Given the description of an element on the screen output the (x, y) to click on. 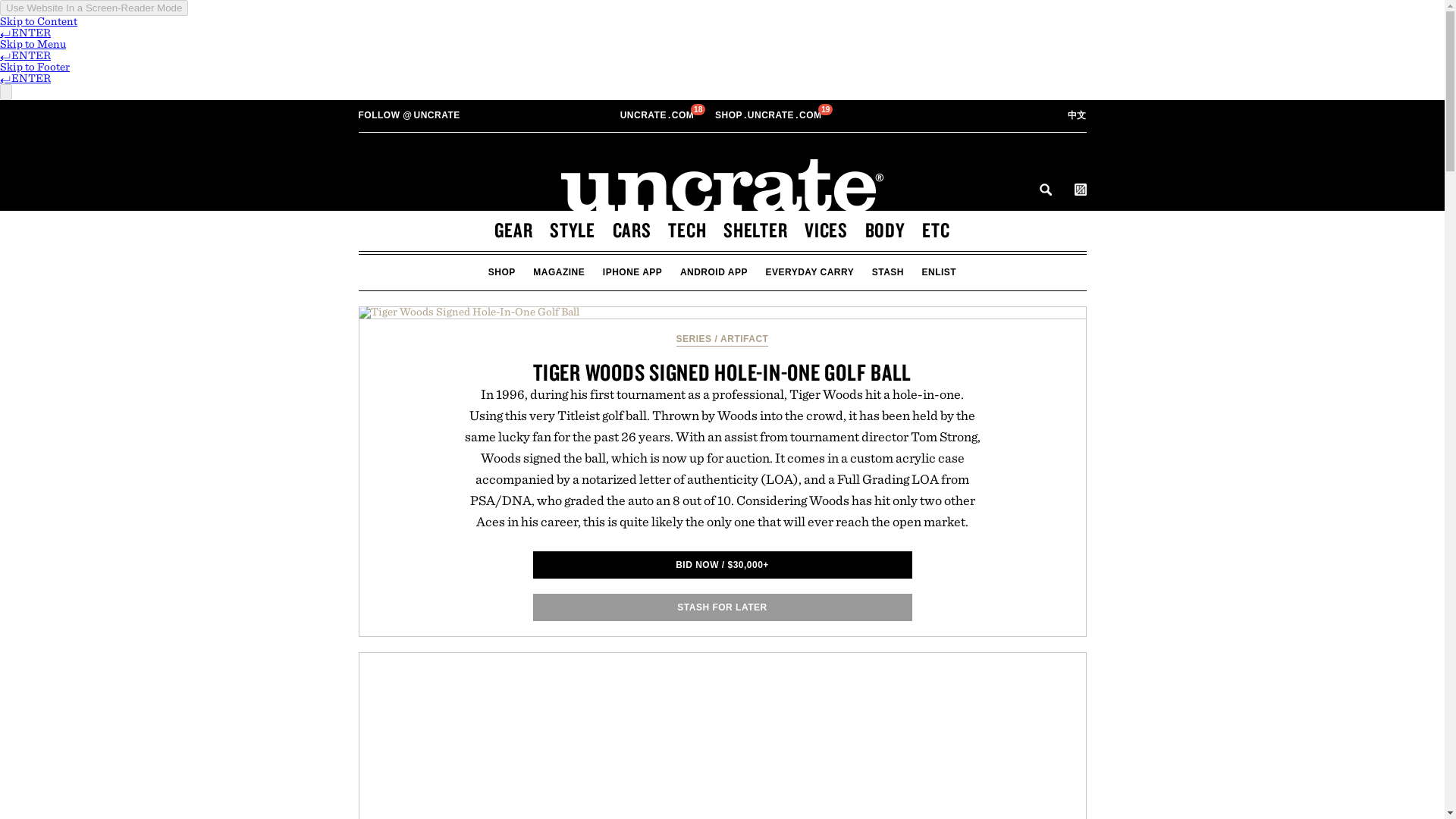
Tiger Woods Signed Hole-In-One Golf Ball (658, 114)
3rd party ad content (769, 114)
